Given the description of an element on the screen output the (x, y) to click on. 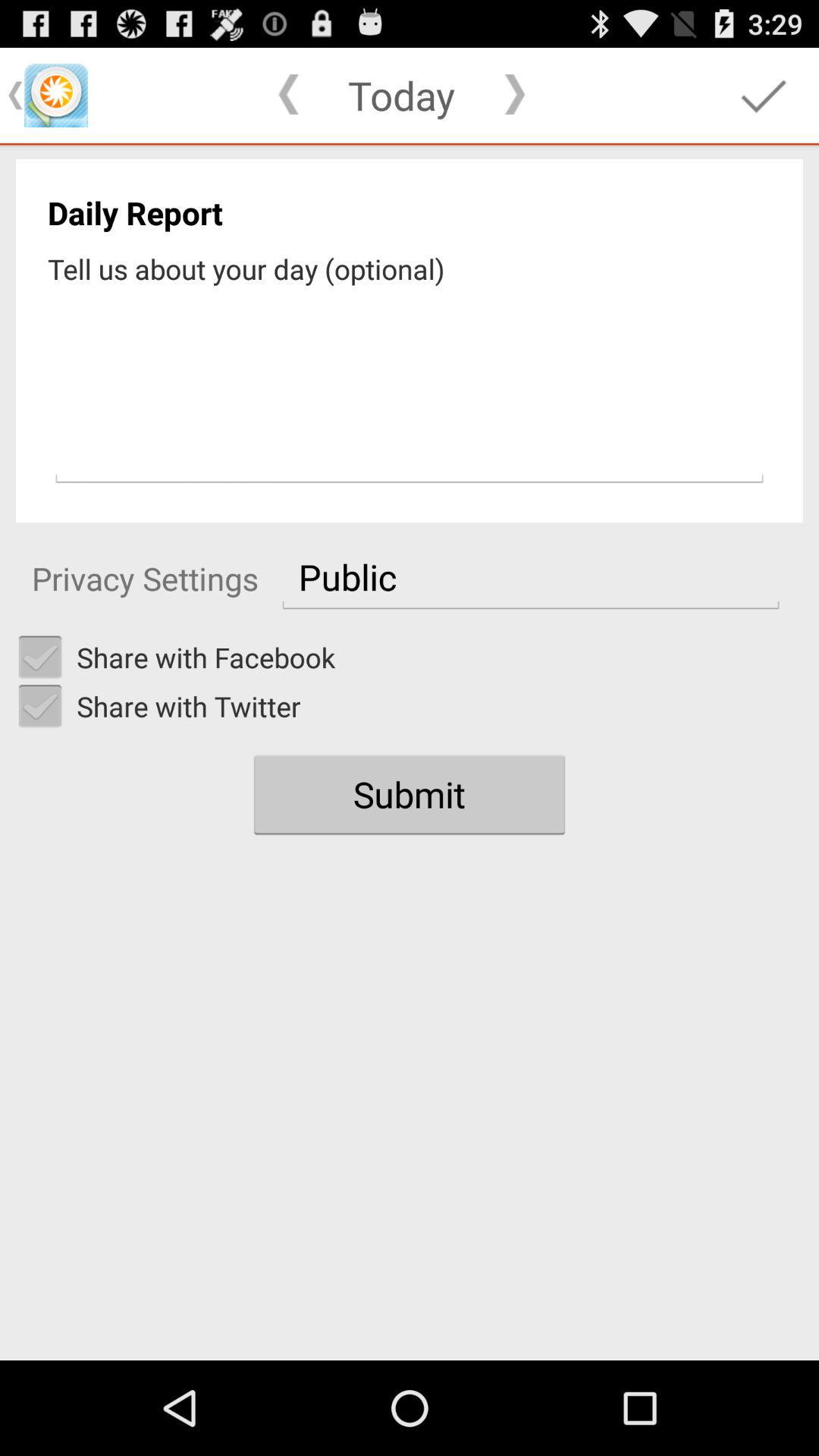
right (39, 657)
